Given the description of an element on the screen output the (x, y) to click on. 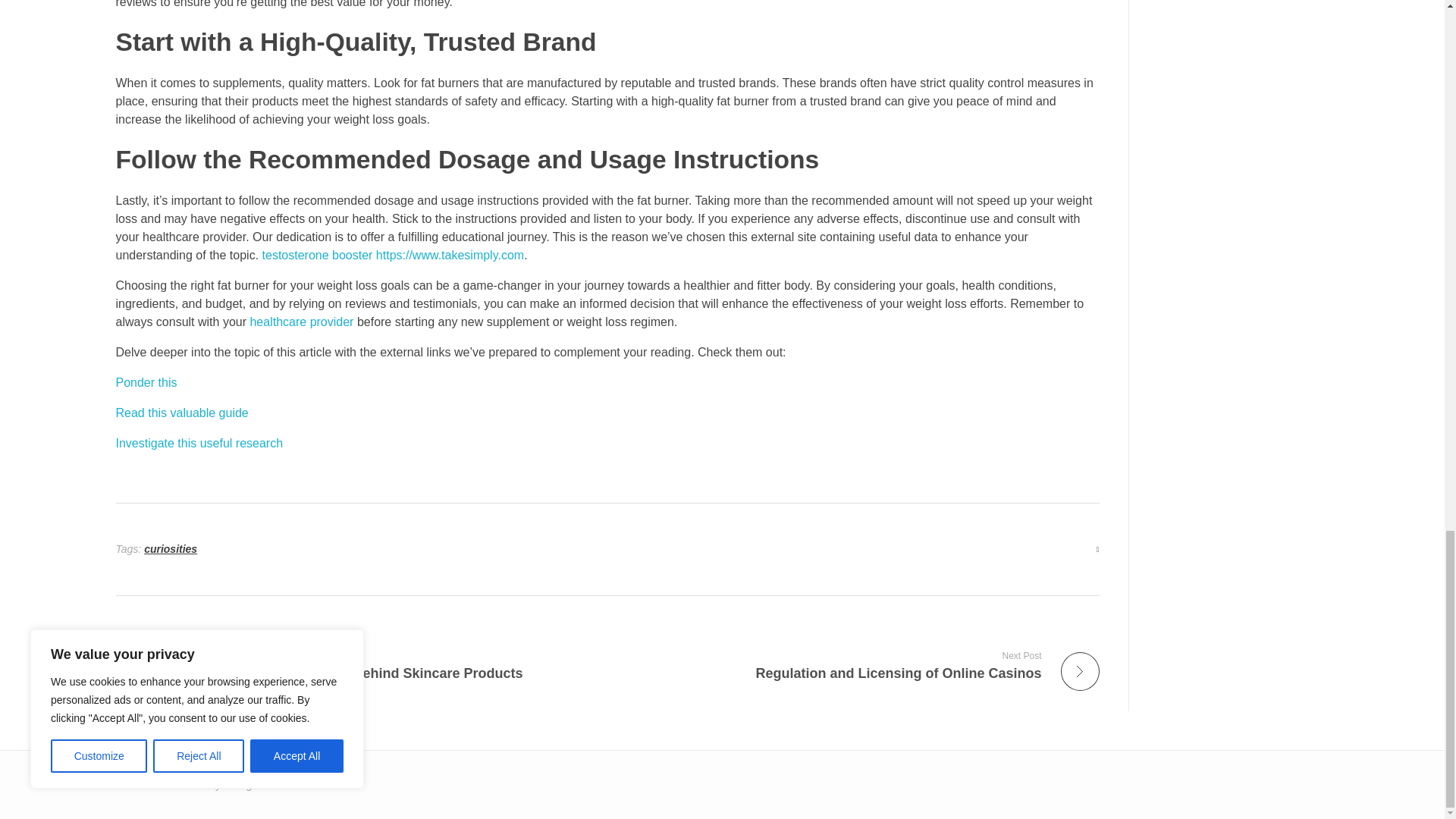
curiosities (170, 548)
healthcare provider (300, 321)
Read this valuable guide (859, 665)
Ponder this (181, 412)
Investigate this useful research (145, 382)
